Given the description of an element on the screen output the (x, y) to click on. 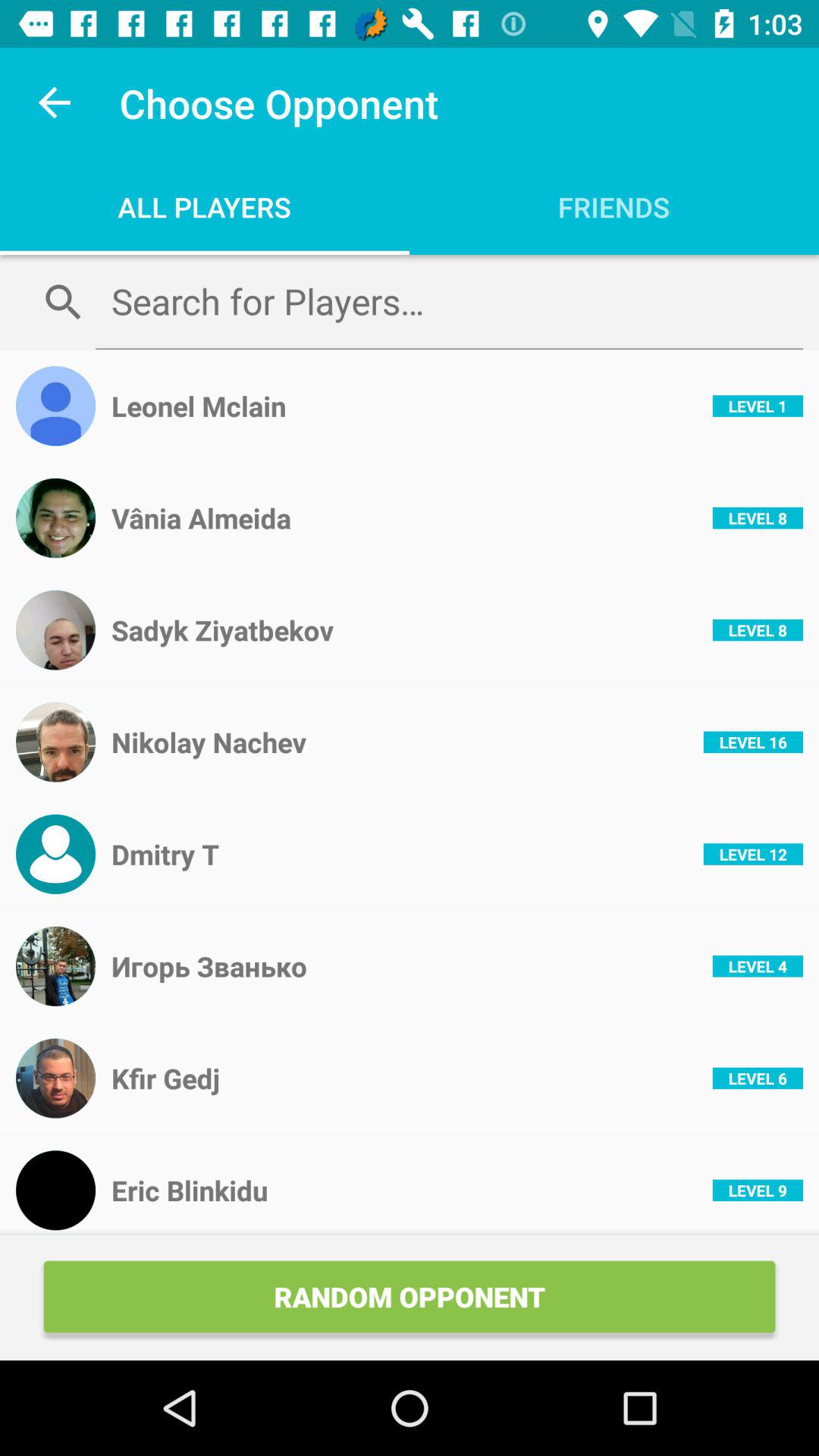
open the icon to the left of the choose opponent (55, 103)
